Given the description of an element on the screen output the (x, y) to click on. 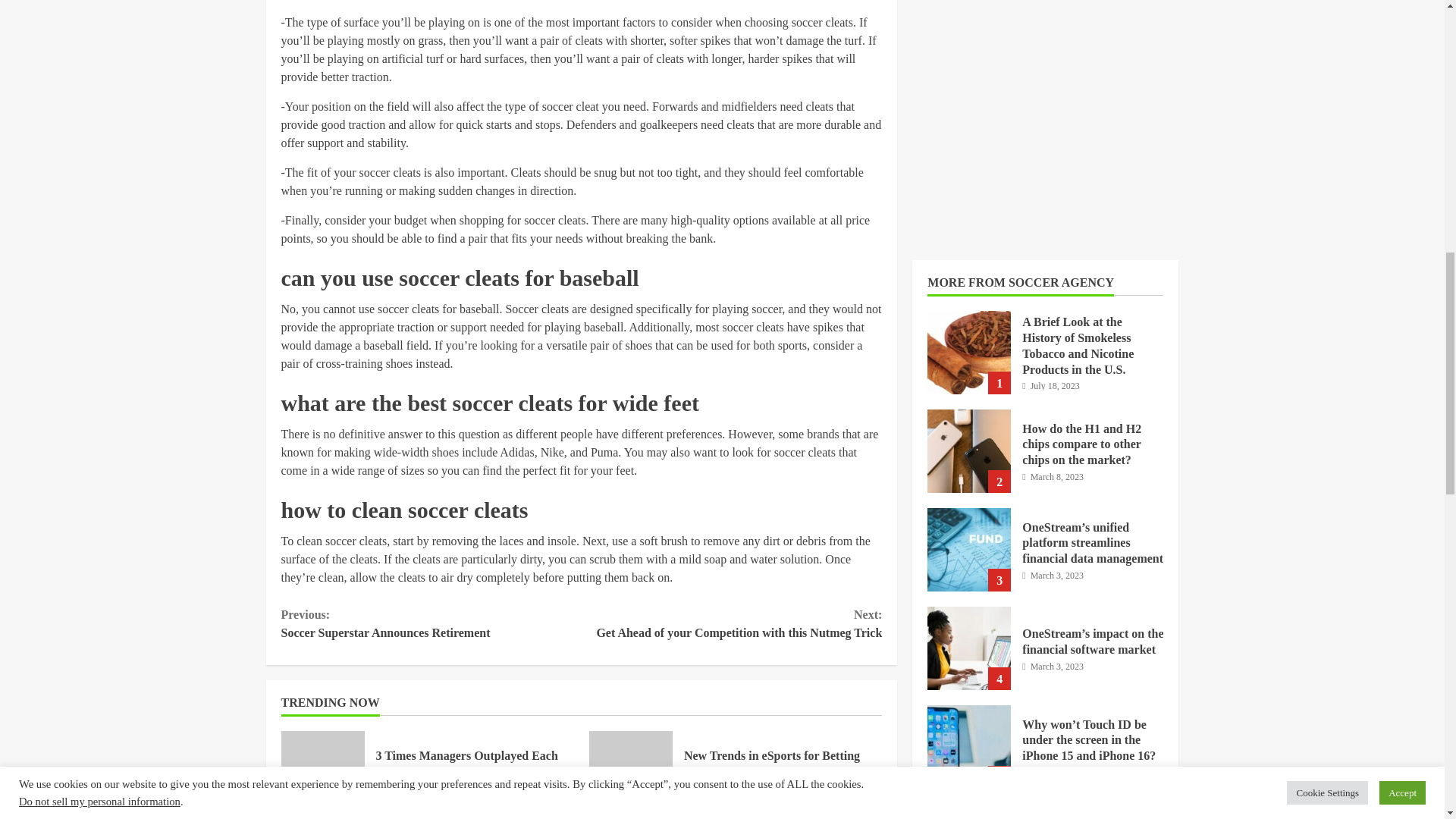
3 Times Managers Outplayed Each Other (731, 624)
3 Times Managers Outplayed Each Other (466, 763)
